Given the description of an element on the screen output the (x, y) to click on. 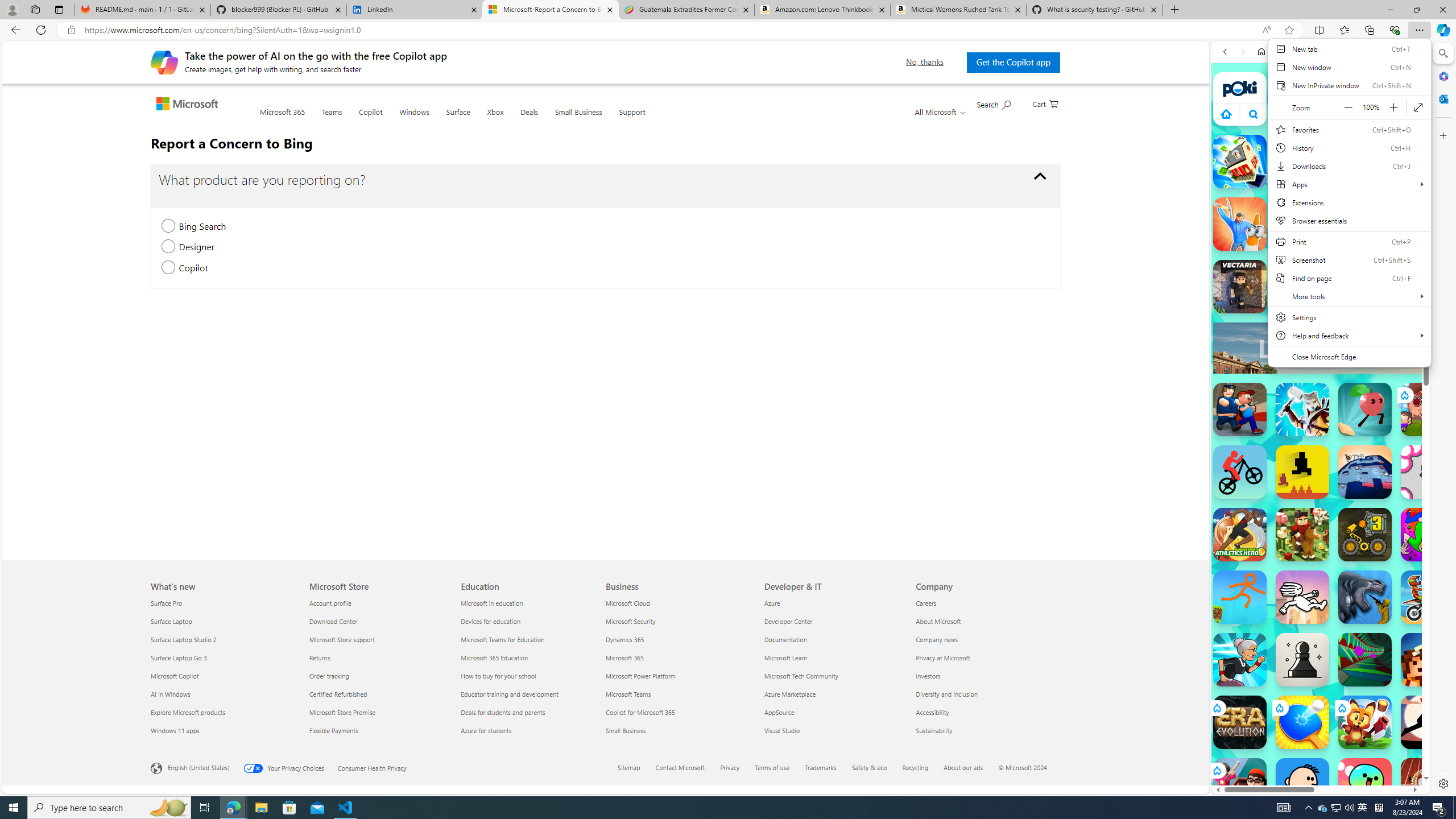
Poki - Free Online Games - Play Now! (1315, 175)
Level Devil (1302, 471)
PLAYGROUND (1433, 160)
Stack City Stack City (1239, 161)
Poki (1315, 754)
Stack City (1239, 161)
Era: Evolution (1239, 722)
Account profile (377, 602)
Microsoft 365 Business (624, 656)
Find on page (1349, 277)
Hills of Steel (1253, 574)
